Given the description of an element on the screen output the (x, y) to click on. 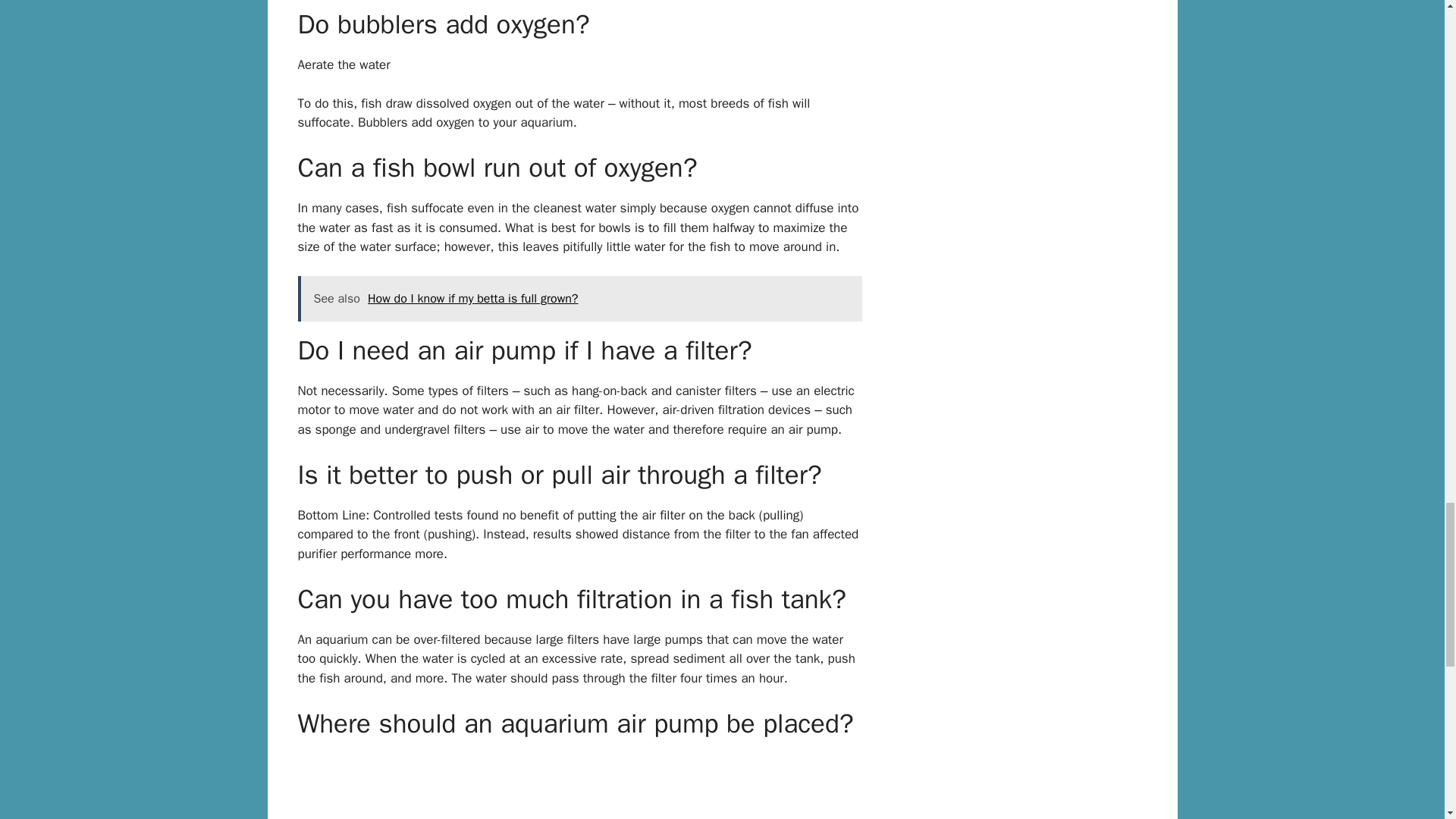
Where should an aquarium air pump be placed? (579, 786)
See also  How do I know if my betta is full grown? (579, 298)
